Given the description of an element on the screen output the (x, y) to click on. 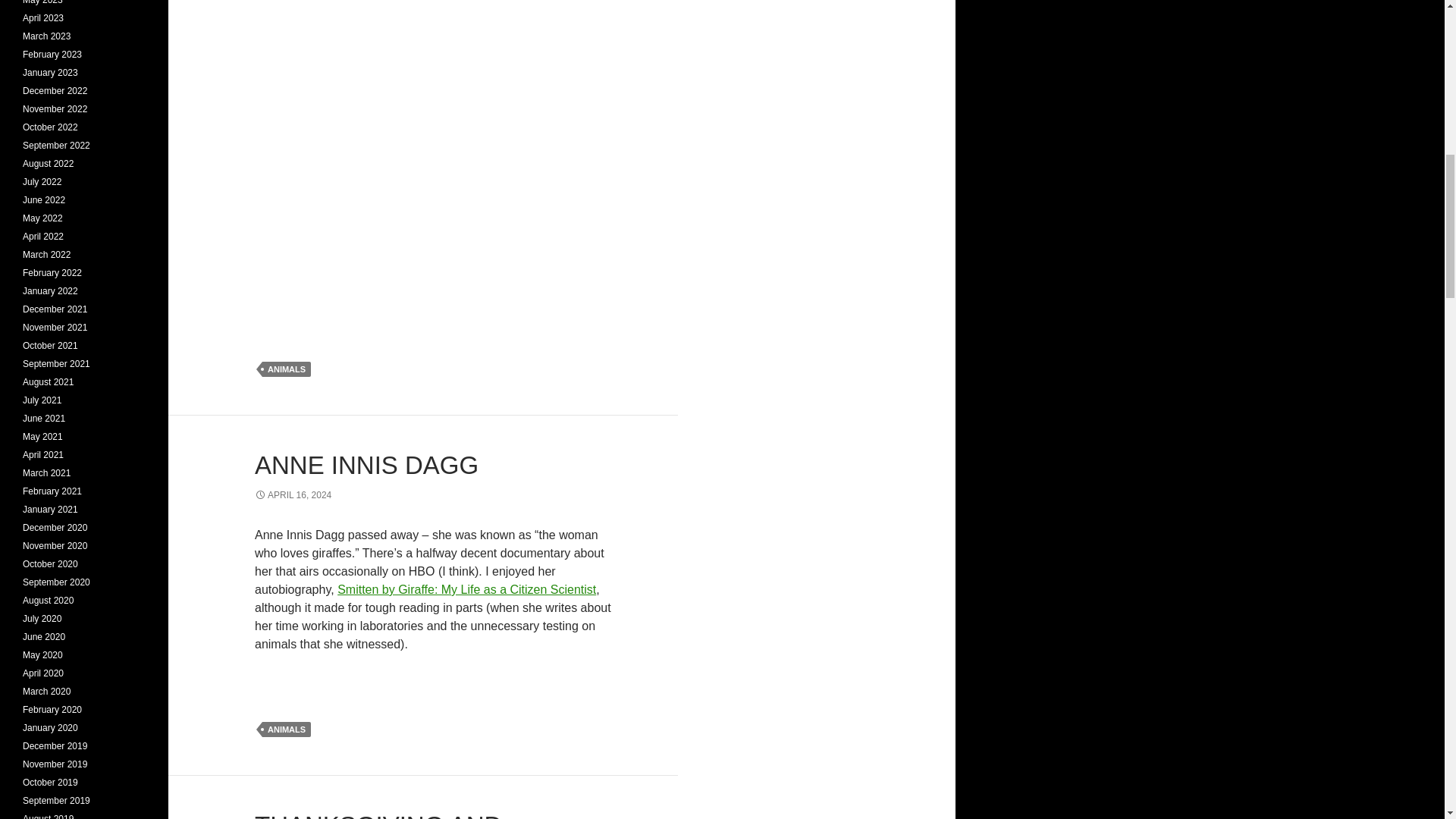
APRIL 16, 2024 (292, 494)
Smitten by Giraffe: My Life as a Citizen Scientist (466, 589)
75 Years and Going Strong - Featuring John Wayne (434, 140)
ANNE INNIS DAGG (366, 465)
ANIMALS (286, 368)
THANKSGIVING AND ELEPHANTS (378, 815)
ANIMALS (286, 729)
